Given the description of an element on the screen output the (x, y) to click on. 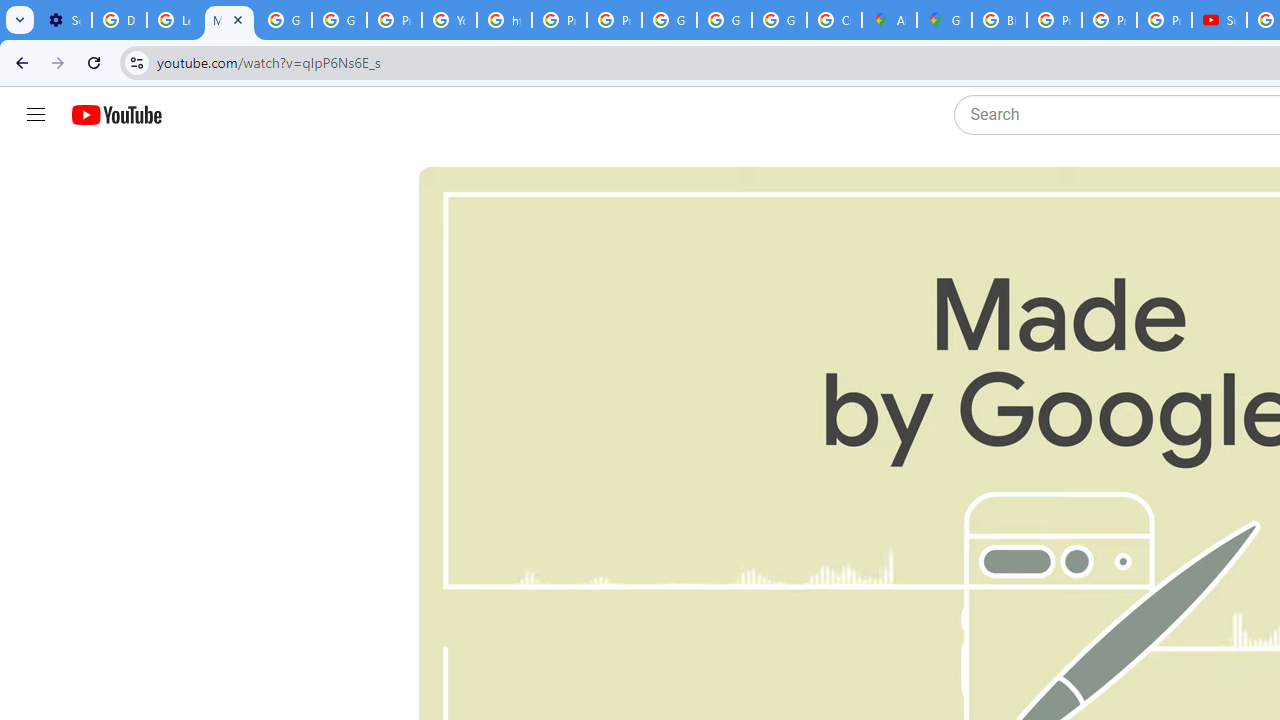
Privacy Help Center - Policies Help (394, 20)
